Given the description of an element on the screen output the (x, y) to click on. 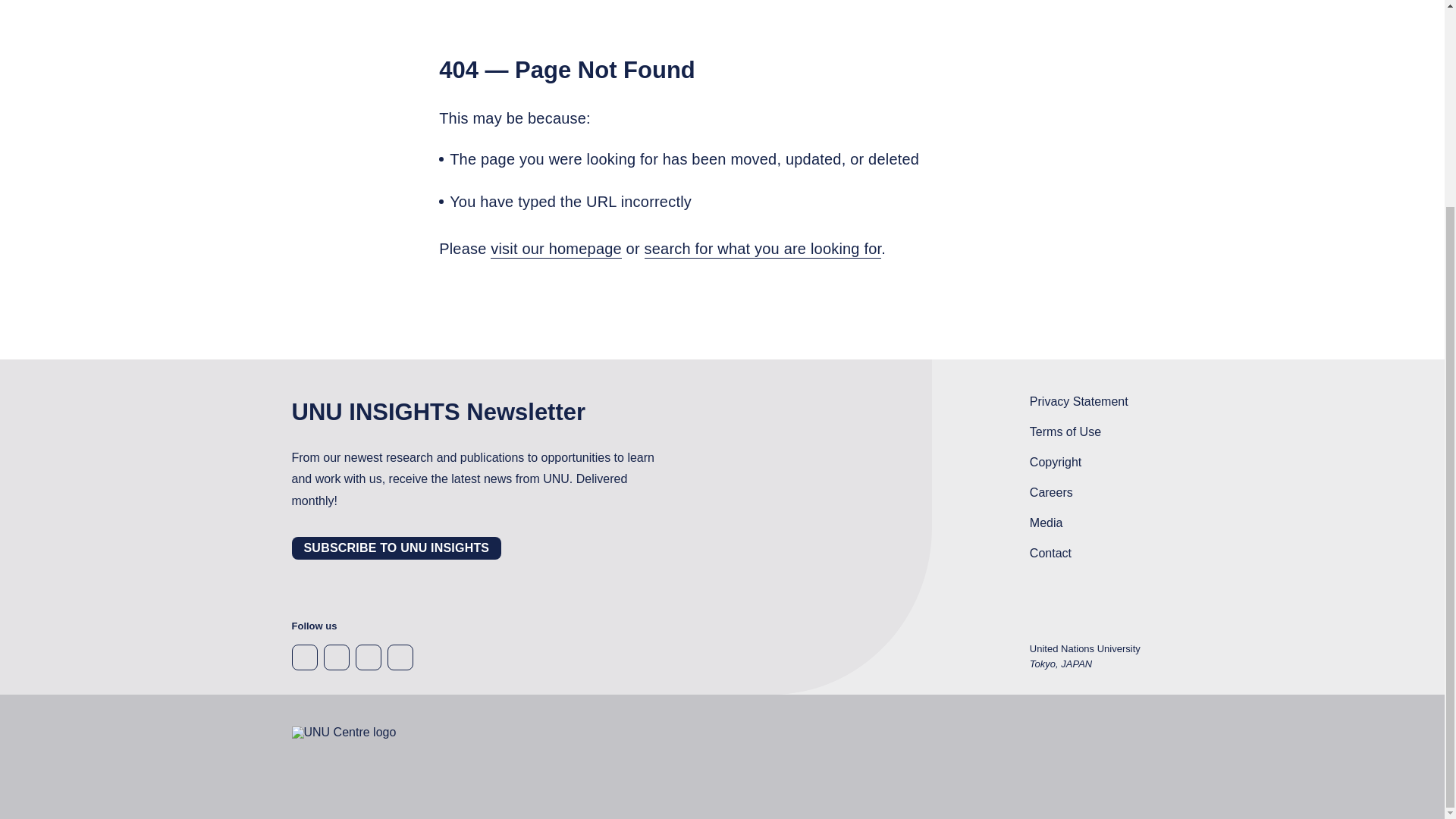
twitter (304, 657)
linkedin (336, 657)
facebook (399, 657)
youtube (367, 657)
